Given the description of an element on the screen output the (x, y) to click on. 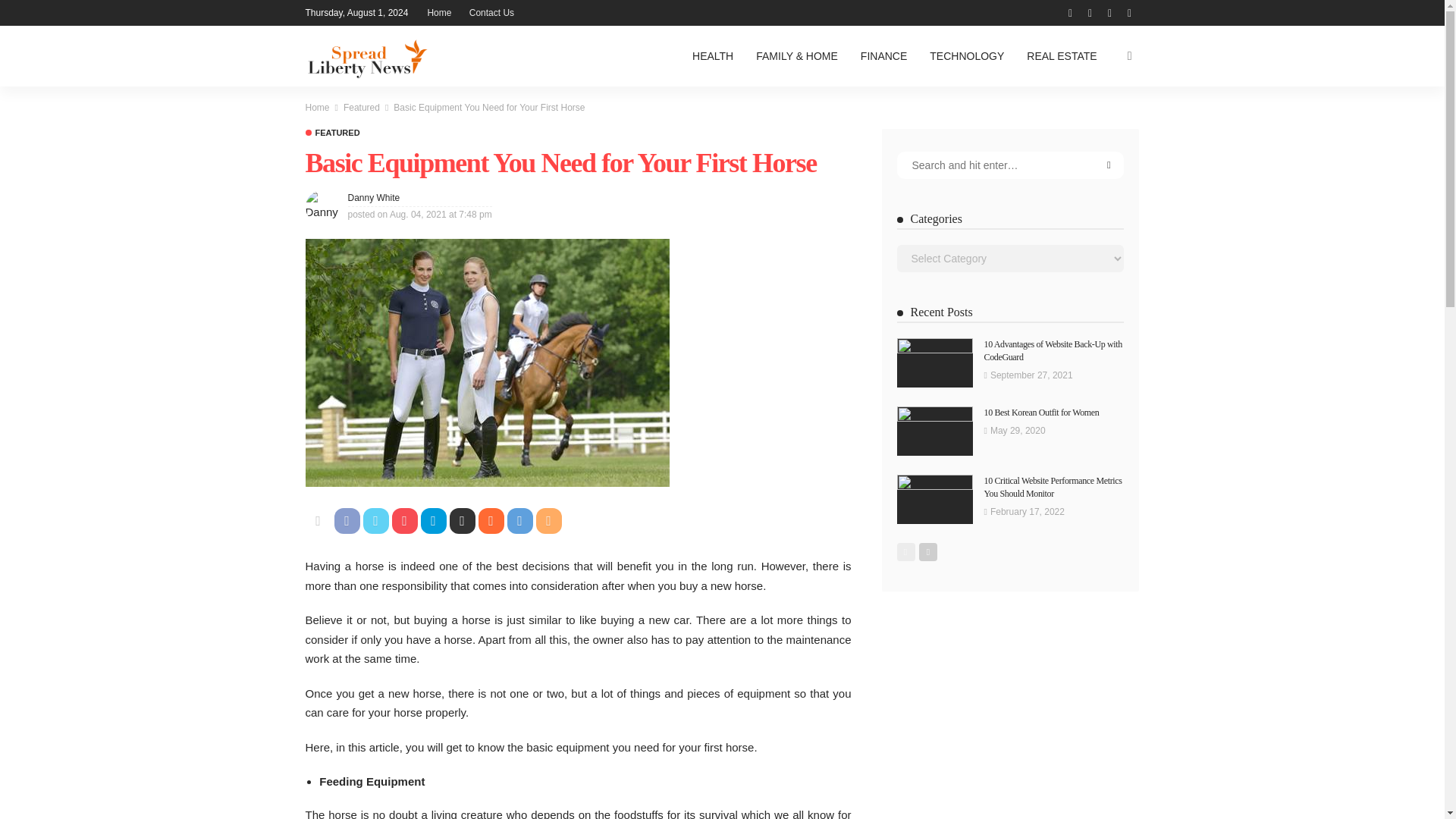
spread liberty news (366, 55)
10 Advantages of Website Back-Up with CodeGuard (1053, 350)
10 Critical Website Performance Metrics You Should Monitor (934, 499)
10 Best Korean Outfit for Women (1041, 412)
10 Best Korean Outfit for Women (934, 430)
10 Advantages of Website Back-Up with CodeGuard (934, 362)
10 Critical Website Performance Metrics You Should Monitor (1053, 486)
Featured (331, 132)
Home (316, 107)
search for: (1010, 165)
